Given the description of an element on the screen output the (x, y) to click on. 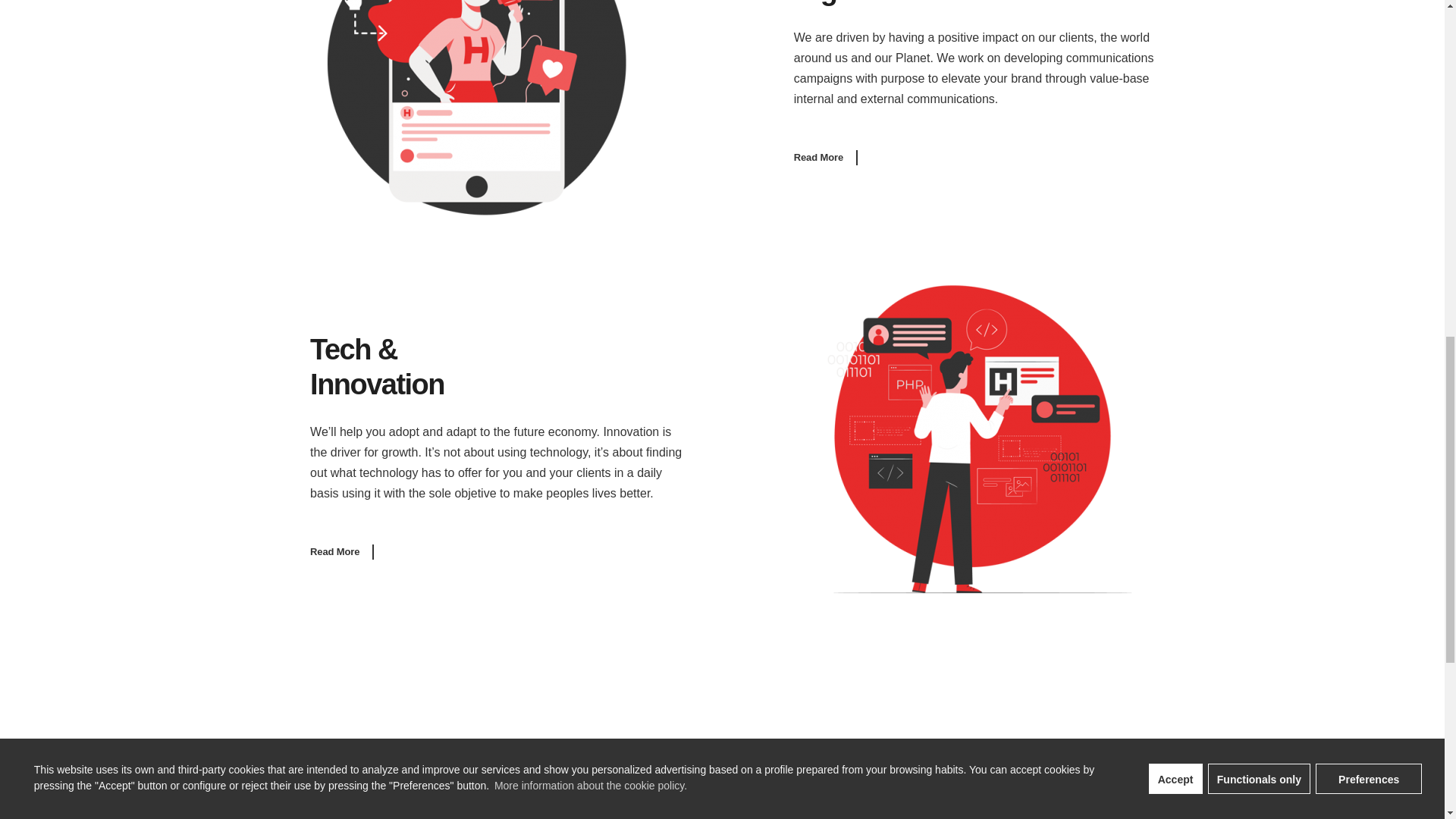
tech-and-innovation (968, 438)
Read More (825, 157)
Read More (342, 551)
digital-communications (475, 108)
